Given the description of an element on the screen output the (x, y) to click on. 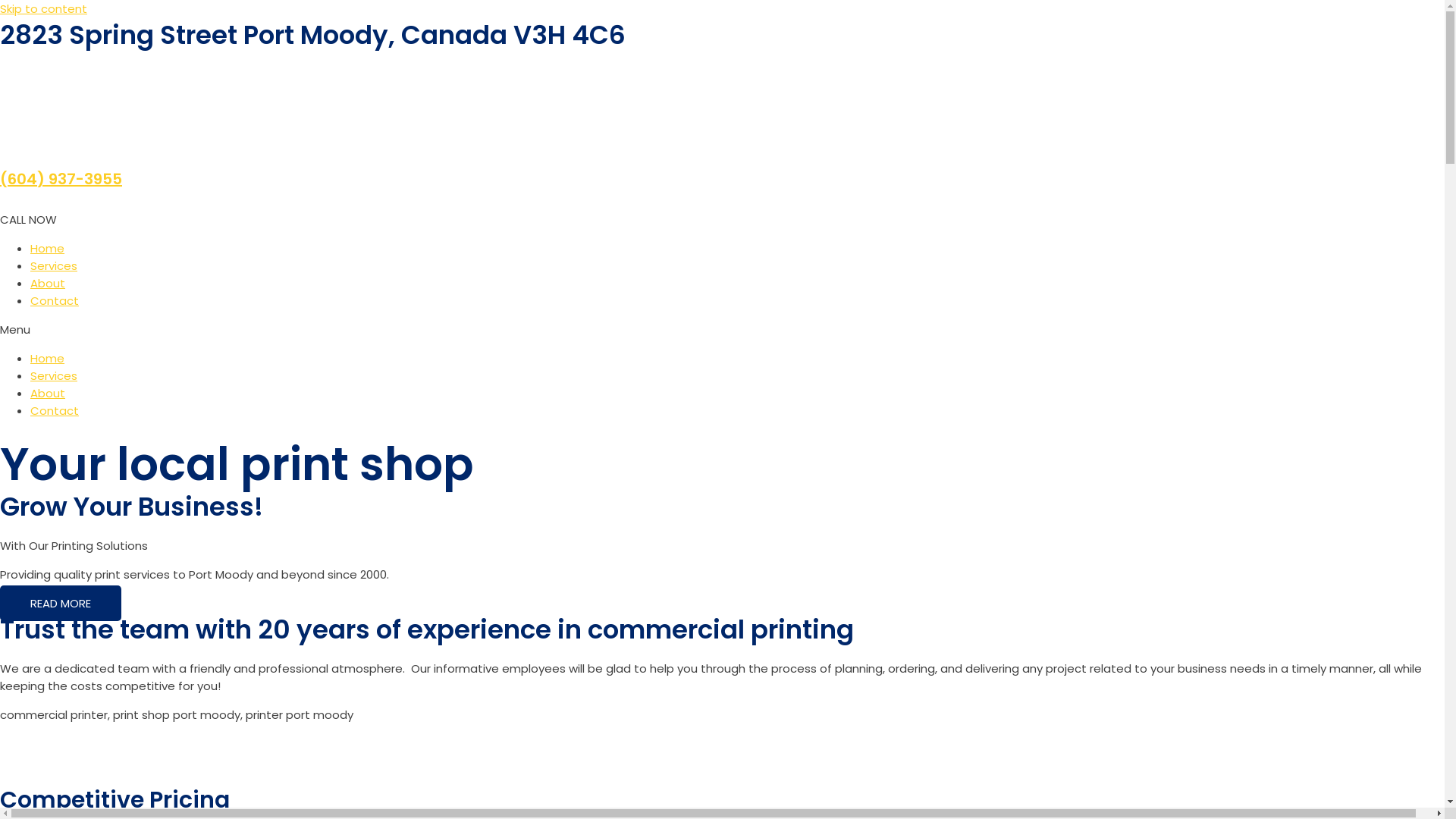
Services Element type: text (53, 375)
READ MORE Element type: text (60, 603)
Contact Element type: text (54, 410)
Services Element type: text (53, 265)
Contact Element type: text (54, 300)
(604) 937-3955 Element type: text (61, 178)
Home Element type: text (47, 358)
About Element type: text (47, 393)
About Element type: text (47, 283)
Home Element type: text (47, 248)
Skip to content Element type: text (43, 8)
